Given the description of an element on the screen output the (x, y) to click on. 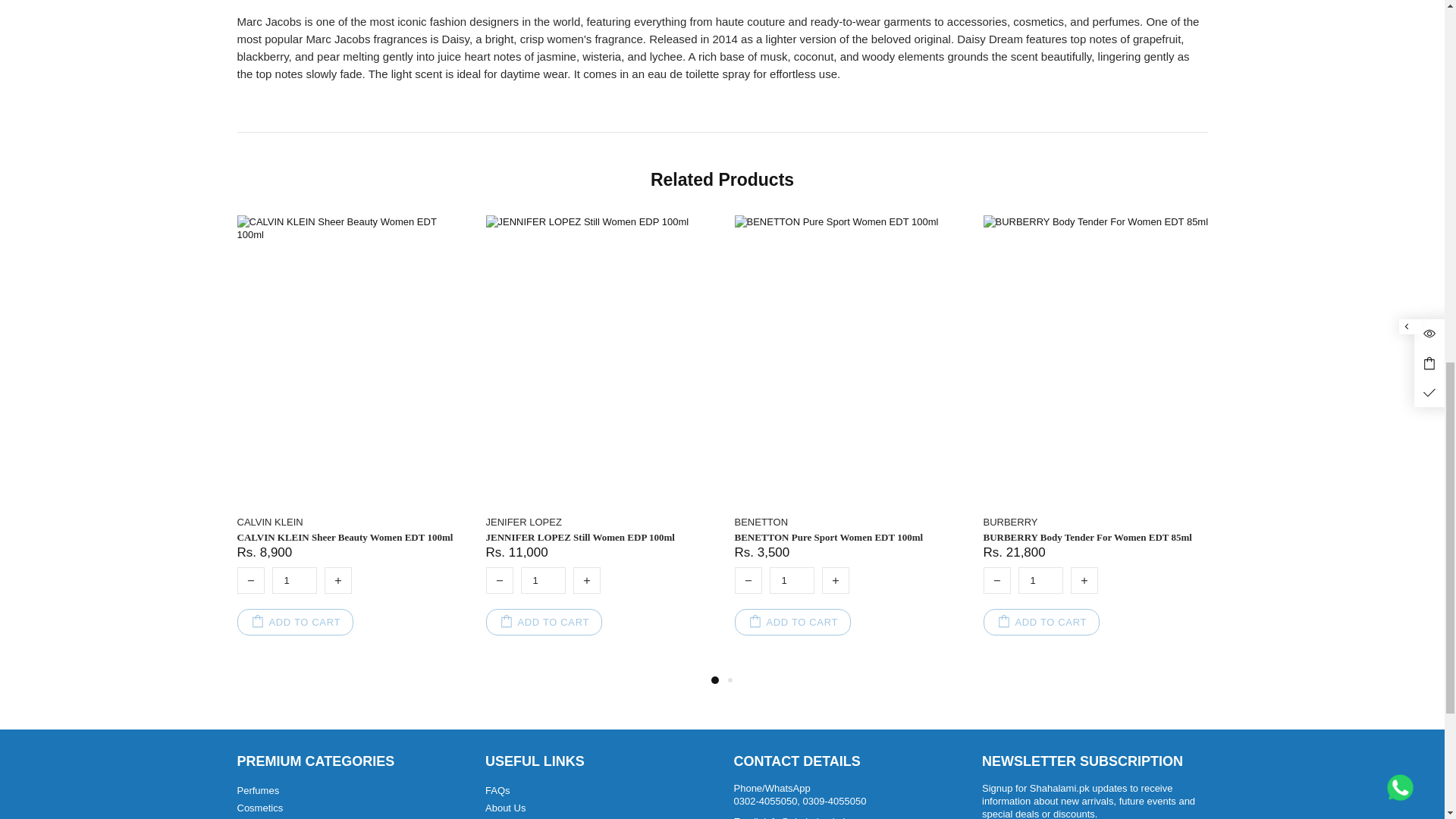
1 (292, 580)
1 (541, 580)
1 (1039, 580)
1 (790, 580)
